Given the description of an element on the screen output the (x, y) to click on. 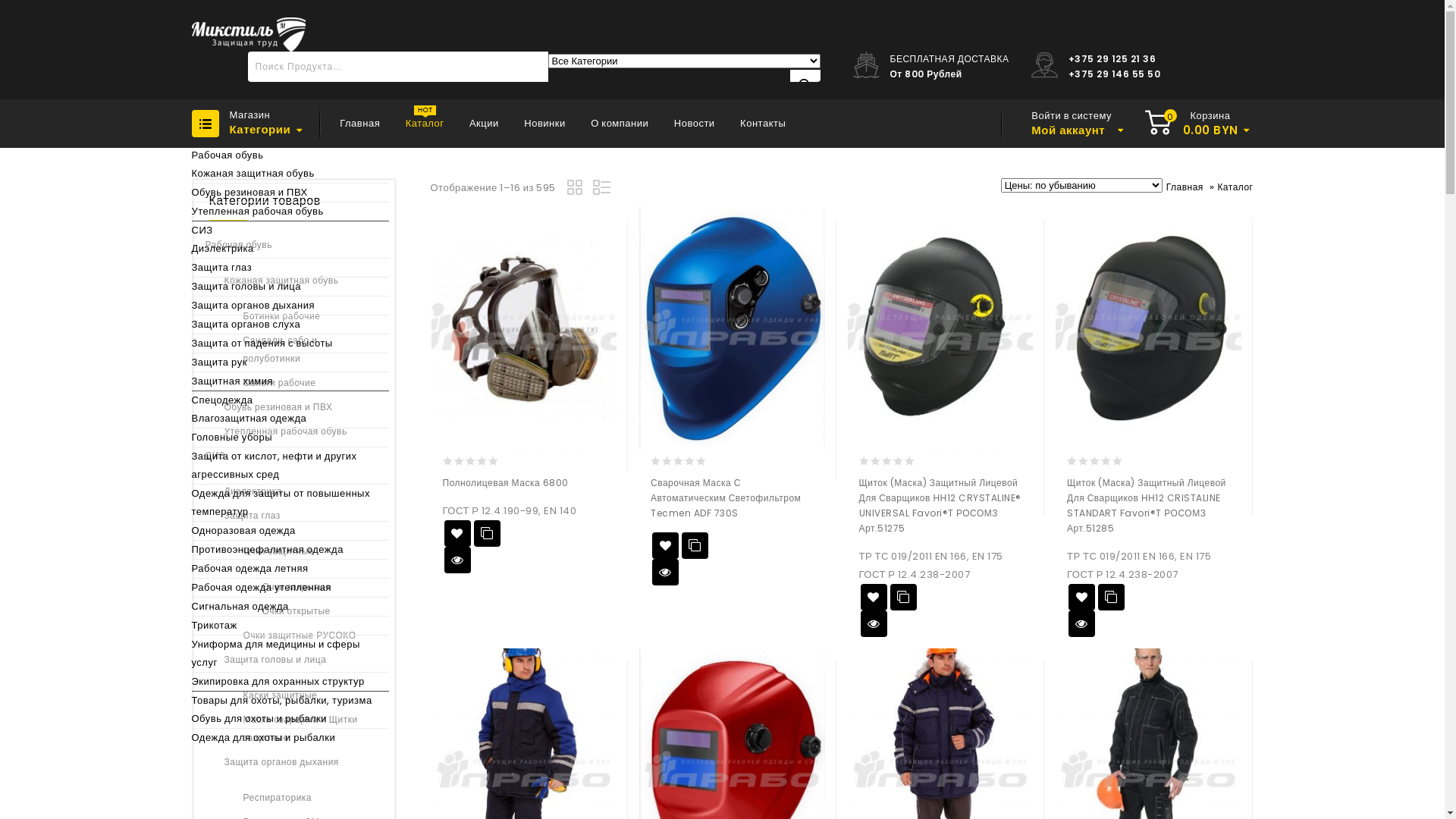
Not yet rated Element type: hover (1095, 460)
Not yet rated Element type: hover (679, 460)
Not yet rated Element type: hover (887, 460)
Not yet rated Element type: hover (471, 460)
QUICK VIEW Element type: text (872, 623)
Grid view Element type: hover (576, 189)
QUICK VIEW Element type: text (665, 571)
QUICK VIEW Element type: text (457, 559)
QUICK VIEW Element type: text (1081, 623)
List view Element type: hover (602, 189)
